Given the description of an element on the screen output the (x, y) to click on. 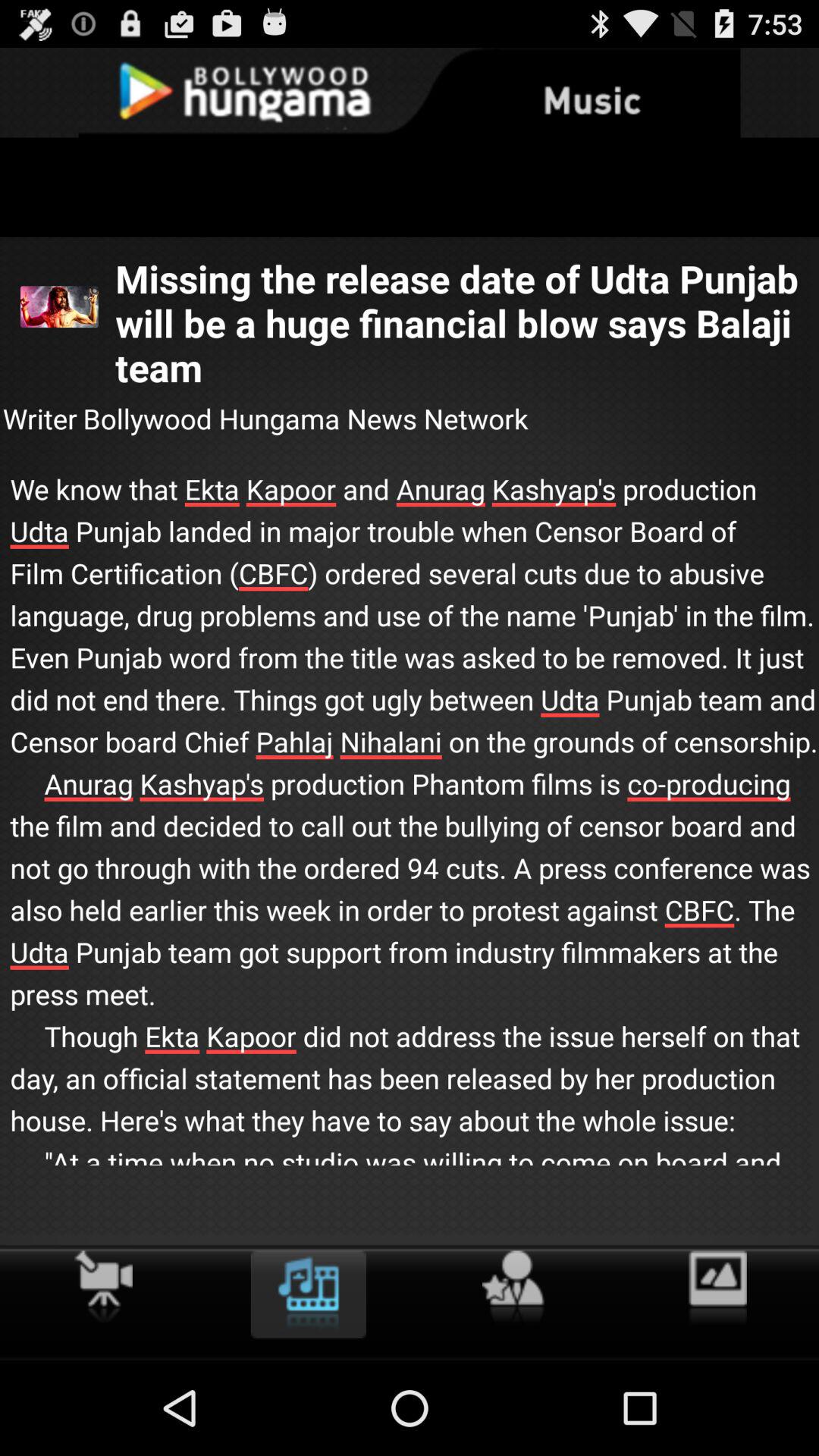
select the icon at the bottom left corner (103, 1286)
